Given the description of an element on the screen output the (x, y) to click on. 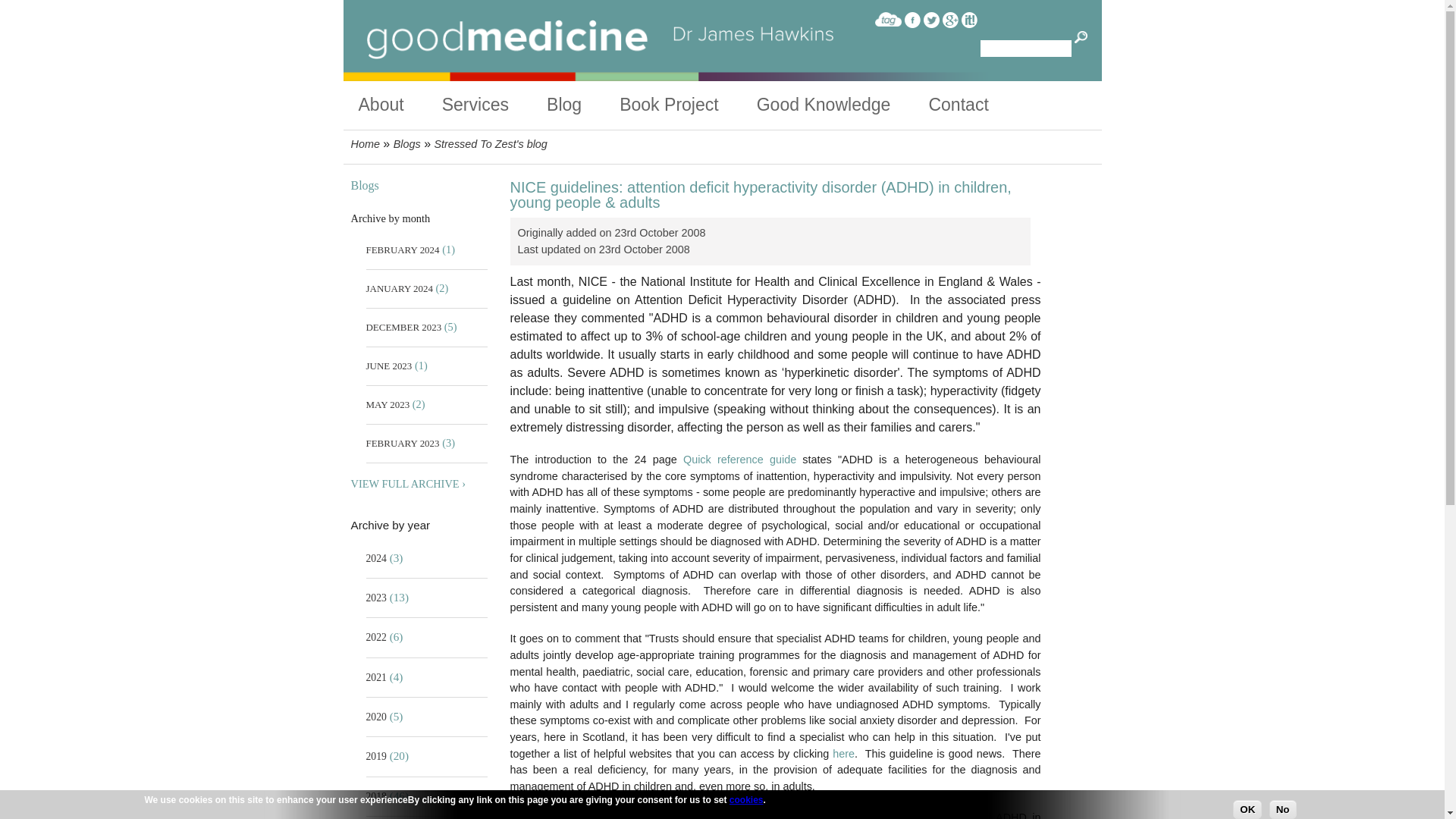
clinic details (494, 104)
Book Project (688, 104)
Services (494, 104)
Good Knowledge (842, 104)
Search (1081, 38)
dr hawkins' blog (583, 104)
Search (1081, 38)
Blog (583, 104)
background information (399, 104)
Enter the terms you wish to search for. (1024, 48)
About (399, 104)
